Given the description of an element on the screen output the (x, y) to click on. 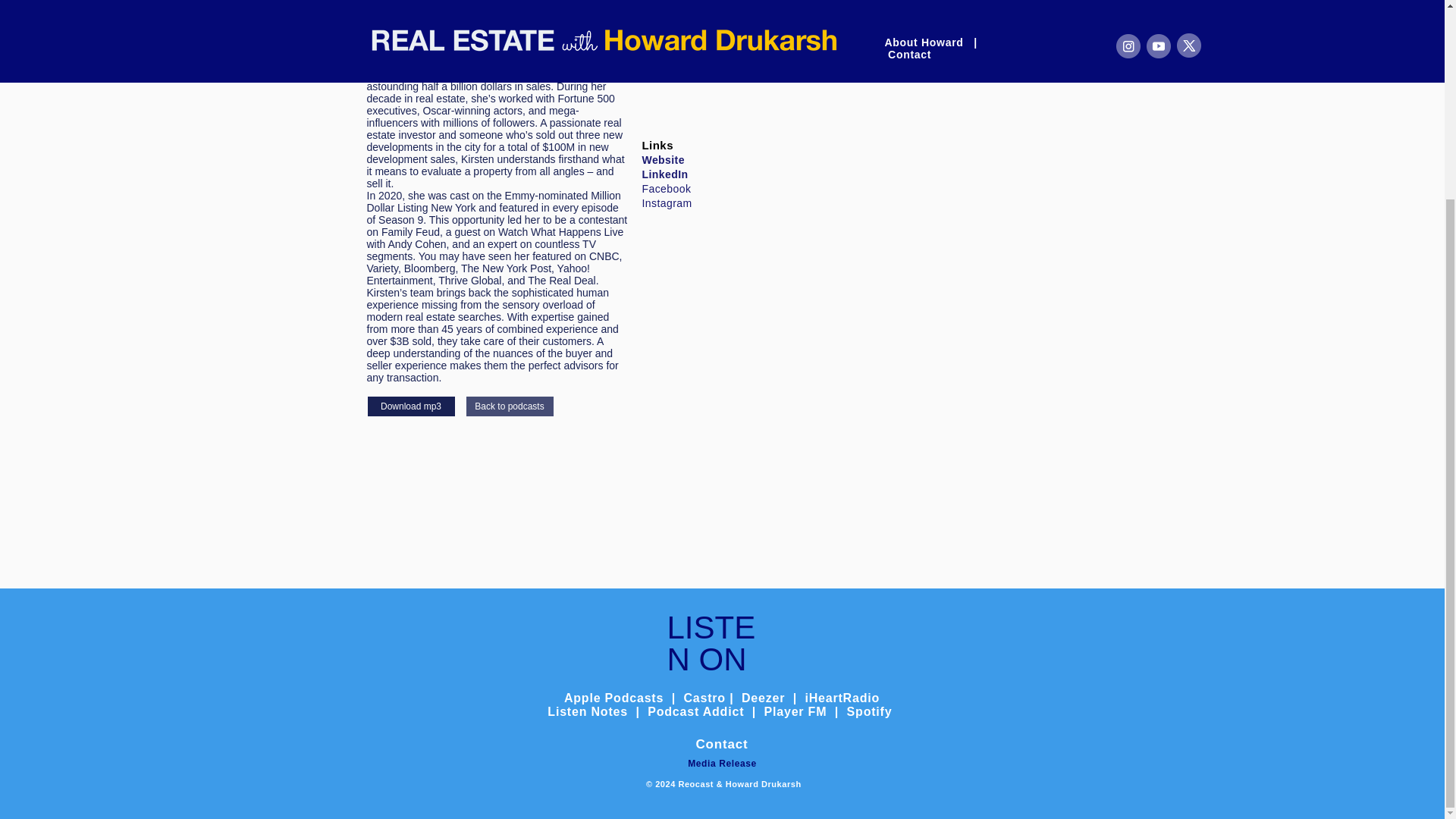
Download mp3 (410, 406)
Deezer (762, 697)
Back to podcasts (509, 406)
Castro (703, 697)
LinkedIn (664, 174)
Facebook (666, 188)
Media Release (722, 763)
Podcast Addict  (697, 711)
Website (663, 159)
Contact (721, 744)
Player FM (795, 711)
Apple Podcasts (613, 697)
Instagram (666, 203)
iHeartRadio (842, 697)
Spotify (869, 711)
